Given the description of an element on the screen output the (x, y) to click on. 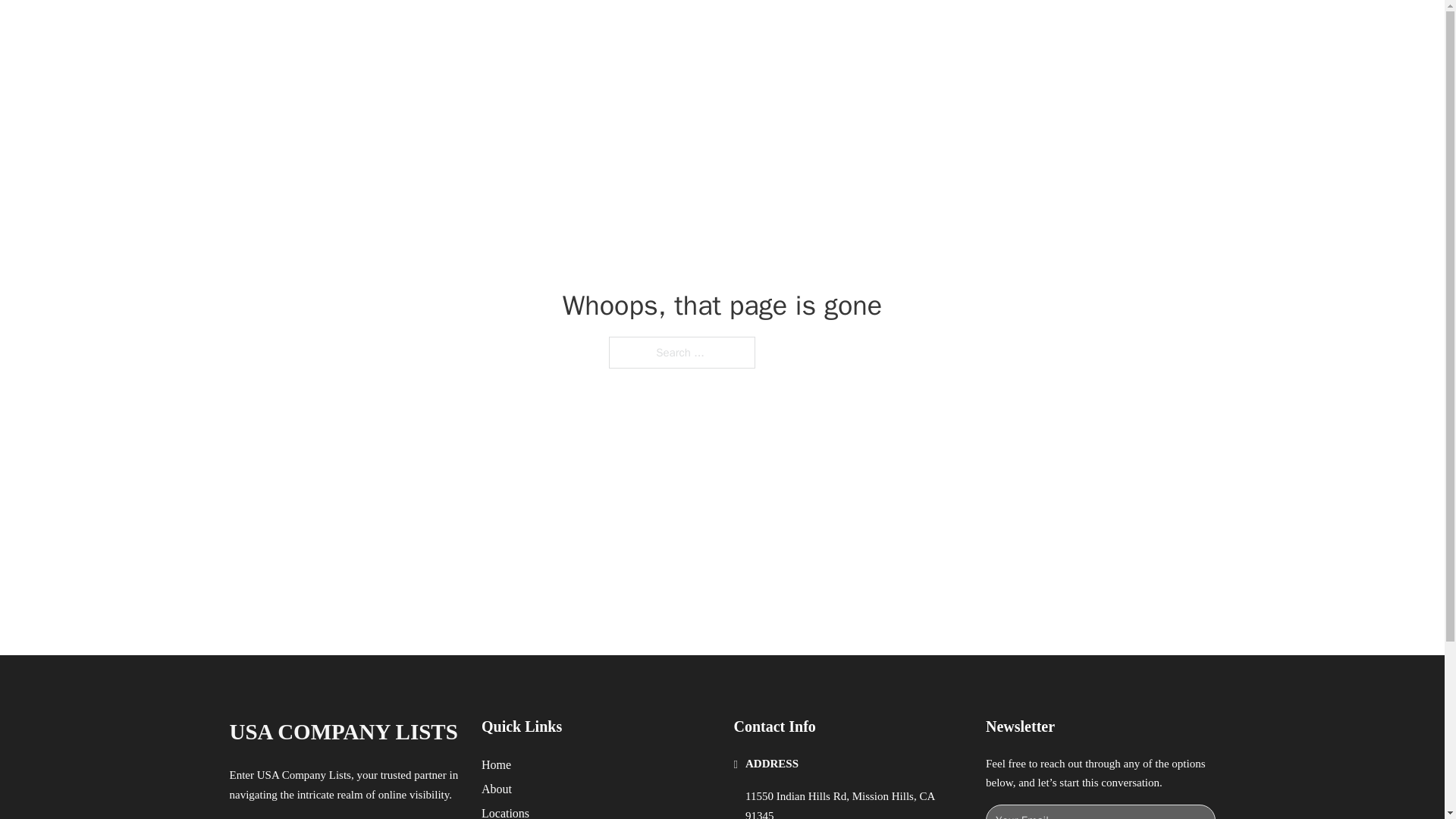
Home (496, 764)
HOME (919, 29)
About (496, 788)
LOCATIONS (990, 29)
USA COMPANY LISTS (416, 28)
USA COMPANY LISTS (342, 732)
Locations (505, 811)
